Given the description of an element on the screen output the (x, y) to click on. 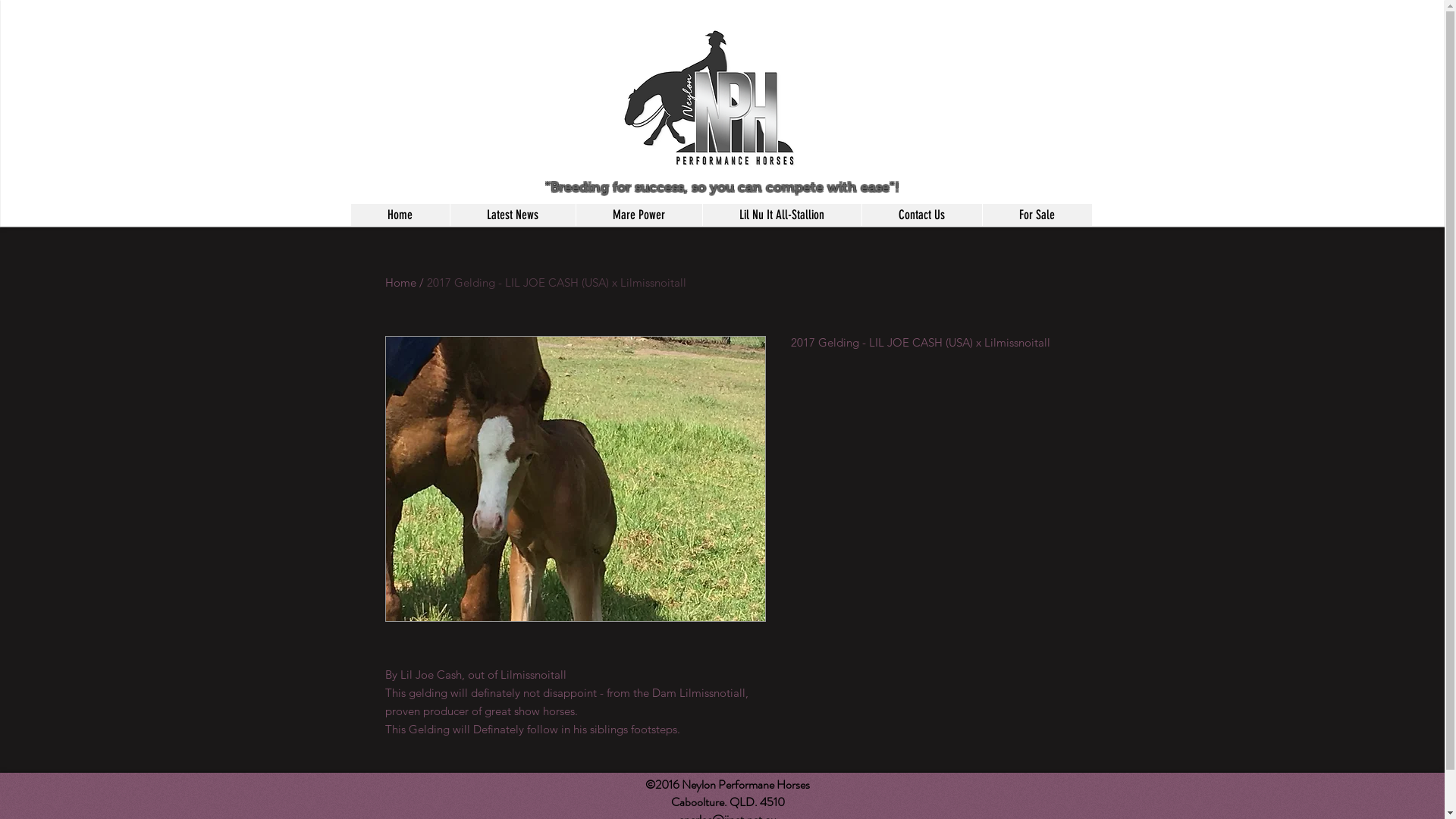
Home Element type: text (399, 214)
Contact Us Element type: text (921, 214)
Lil Nu It All-Stallion Element type: text (781, 214)
2017 Gelding - LIL JOE CASH (USA) x Lilmissnoitall Element type: text (555, 282)
Home Element type: text (400, 282)
For Sale Element type: text (1036, 214)
Mare Power Element type: text (637, 214)
Latest News Element type: text (511, 214)
